Given the description of an element on the screen output the (x, y) to click on. 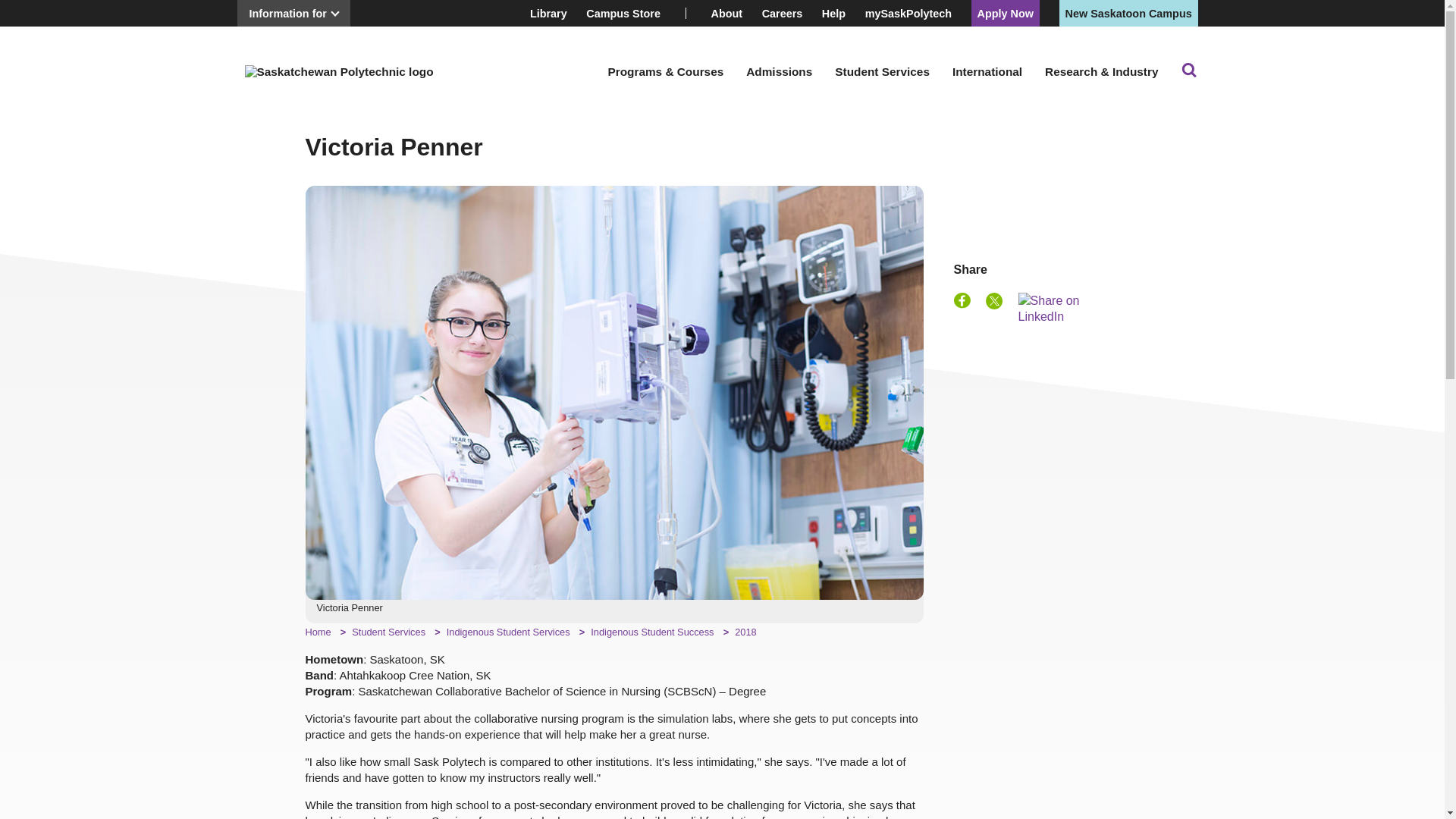
Information for (292, 13)
Campus Store (623, 13)
New Saskatoon Campus (1128, 13)
mySaskPolytech (908, 13)
Help (833, 13)
Apply Now (1004, 13)
About (726, 13)
Careers (782, 13)
Library (548, 13)
